Given the description of an element on the screen output the (x, y) to click on. 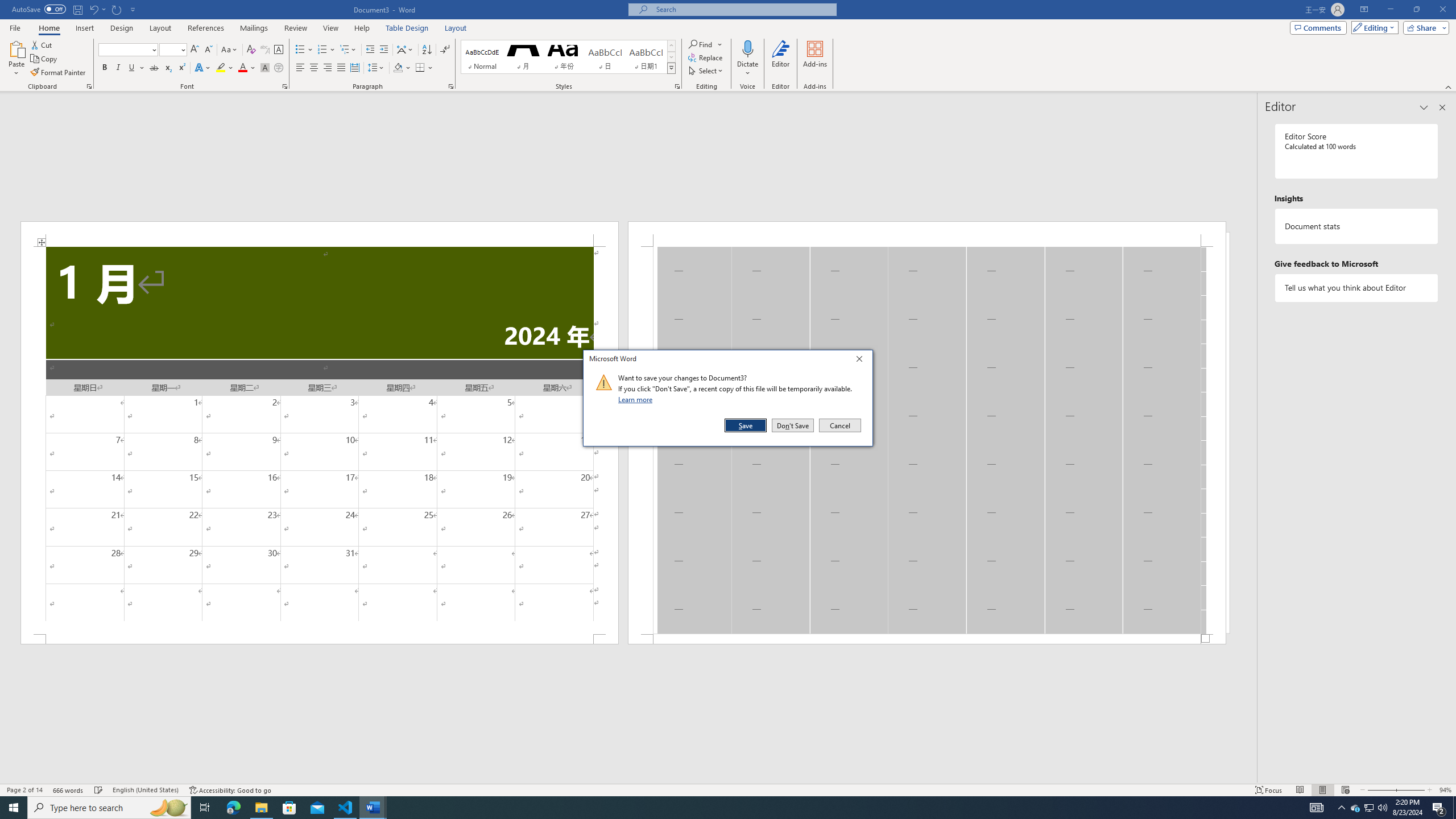
Page Number Page 2 of 14 (24, 790)
